Given the description of an element on the screen output the (x, y) to click on. 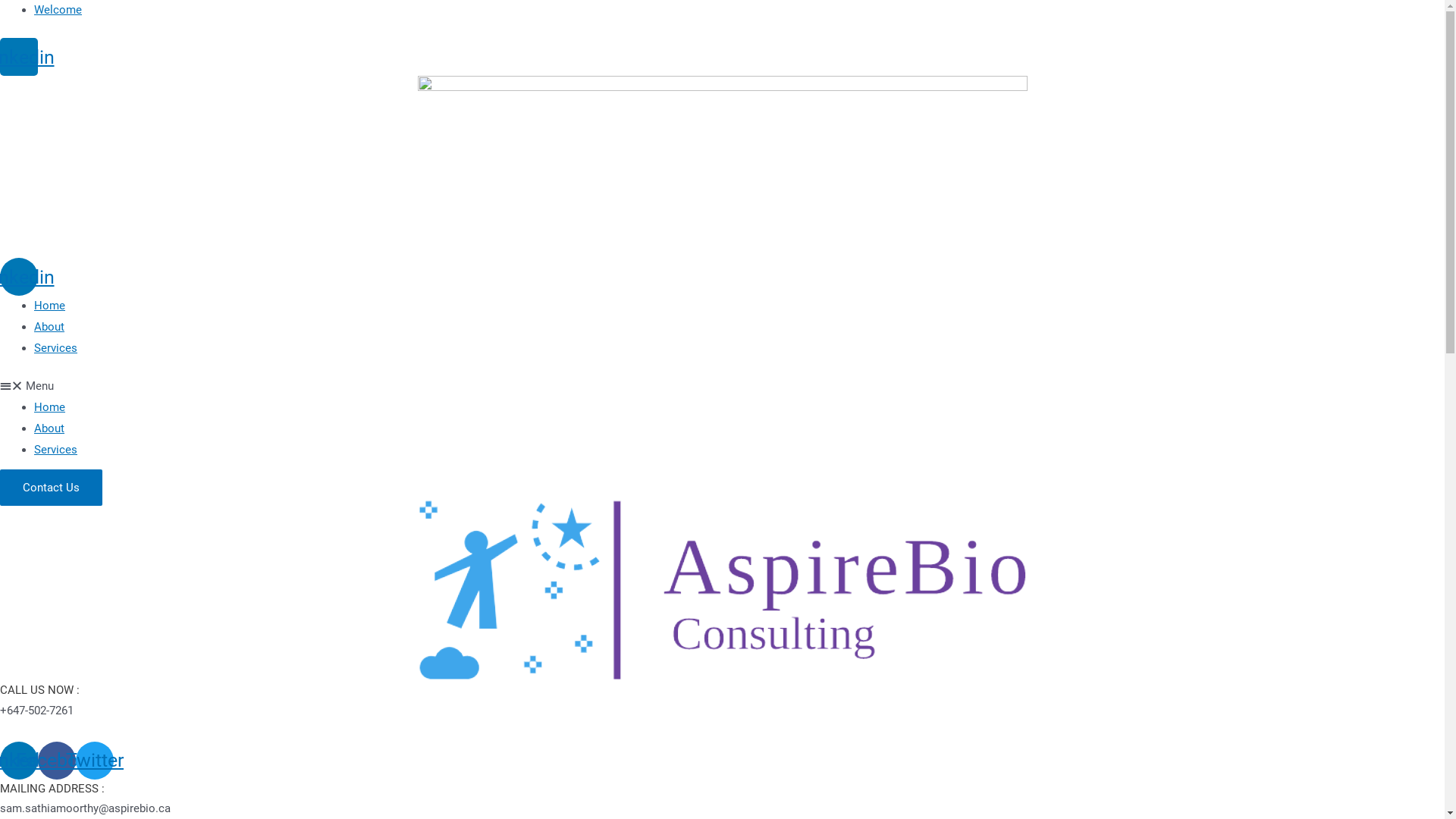
Contact Us Element type: text (51, 487)
Services Element type: text (55, 347)
Home Element type: text (49, 407)
Services Element type: text (55, 449)
Twitter Element type: text (94, 760)
About Element type: text (49, 326)
Linkedin Element type: text (18, 276)
Welcome Element type: text (57, 9)
Home Element type: text (49, 305)
Facebook Element type: text (56, 760)
Linkedin Element type: text (18, 56)
About Element type: text (49, 428)
Linkedin Element type: text (18, 760)
